Given the description of an element on the screen output the (x, y) to click on. 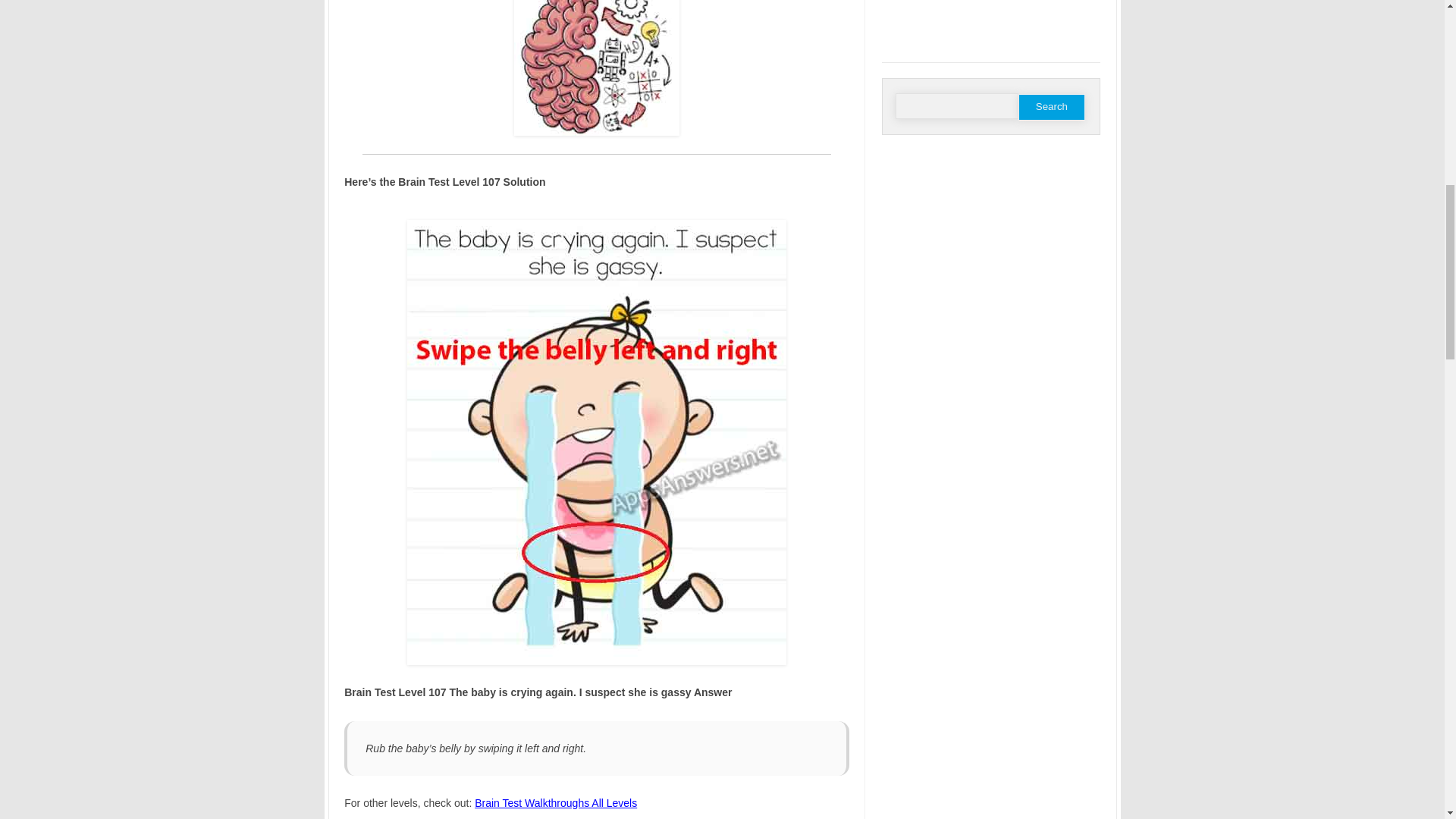
Search (1050, 107)
Brain Test Walkthroughs All Levels (555, 802)
Advertisement (991, 29)
